Given the description of an element on the screen output the (x, y) to click on. 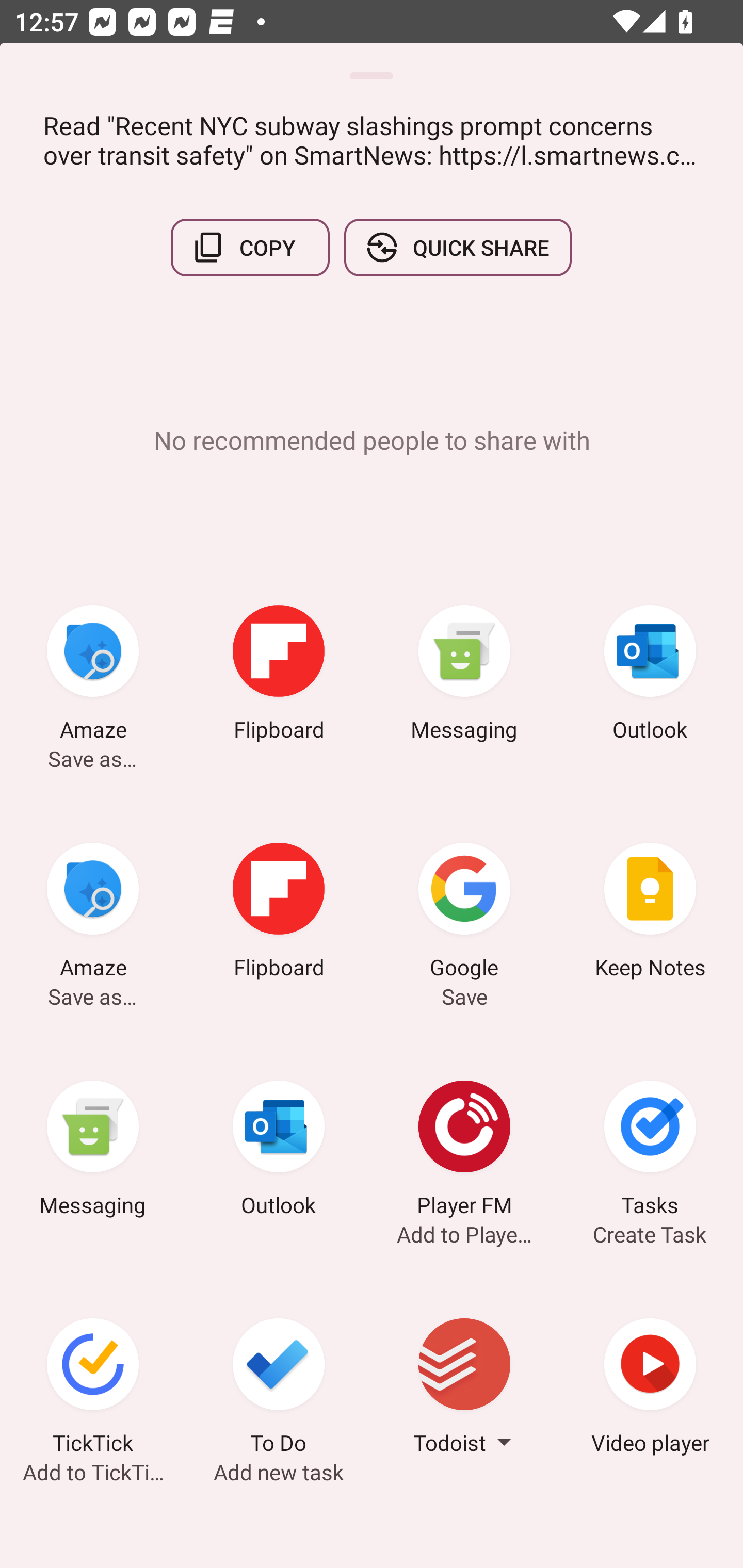
COPY (249, 247)
QUICK SHARE (457, 247)
Amaze Save as… (92, 675)
Flipboard (278, 675)
Messaging (464, 675)
Outlook (650, 675)
Amaze Save as… (92, 913)
Flipboard (278, 913)
Google Save (464, 913)
Keep Notes (650, 913)
Messaging (92, 1151)
Outlook (278, 1151)
Player FM Add to Player FM (464, 1151)
Tasks Create Task (650, 1151)
TickTick Add to TickTick (92, 1389)
To Do Add new task (278, 1389)
Todoist (464, 1389)
Video player (650, 1389)
